Given the description of an element on the screen output the (x, y) to click on. 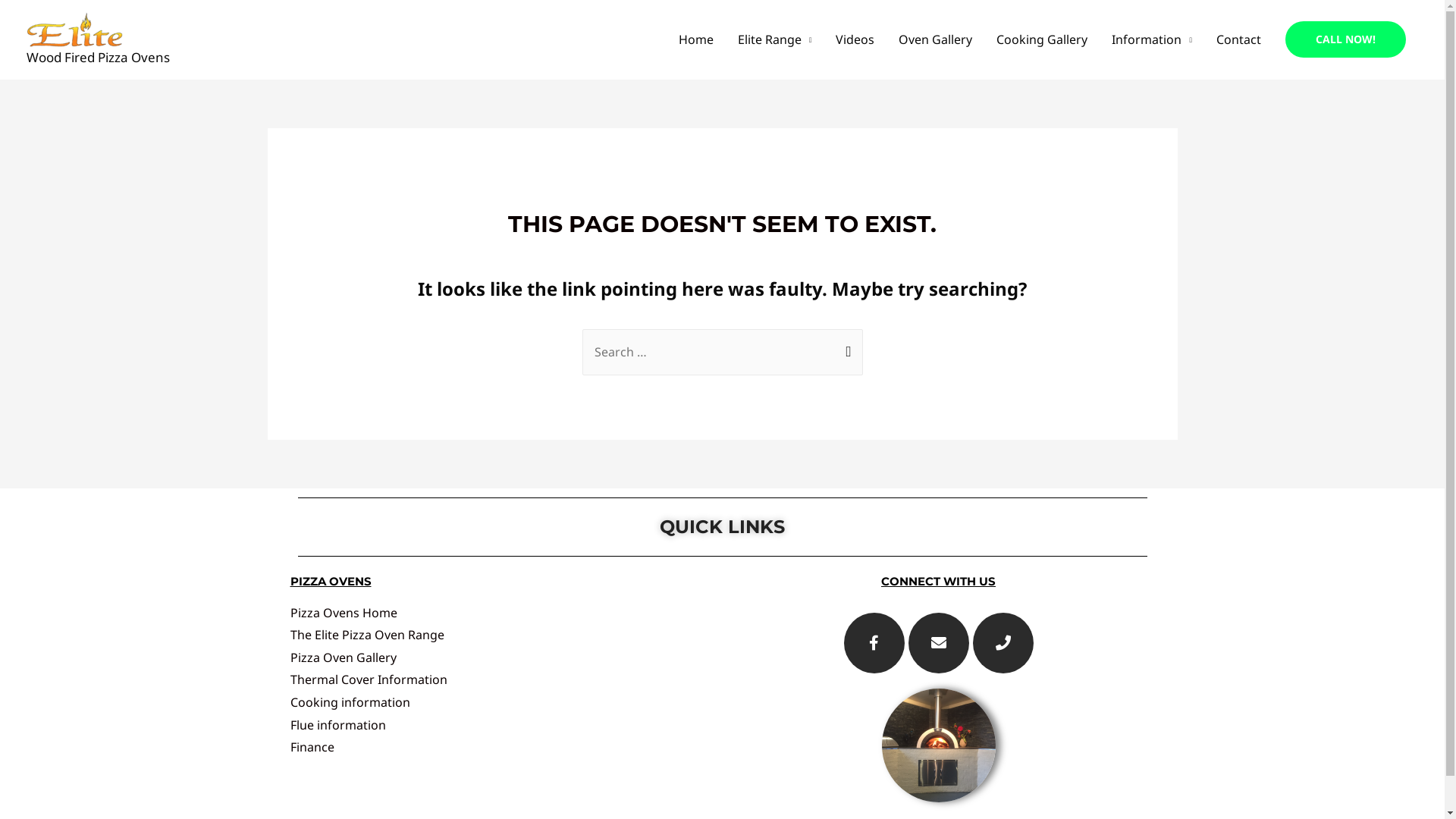
Contact Element type: text (1238, 39)
Pizza Oven Gallery Element type: text (342, 657)
Cooking information Element type: text (349, 701)
Cooking Gallery Element type: text (1041, 39)
Finance Element type: text (311, 746)
Information Element type: text (1151, 39)
Oven Gallery Element type: text (935, 39)
Videos Element type: text (854, 39)
Elite Range Element type: text (774, 39)
CALL NOW! Element type: text (1345, 39)
Flue information Element type: text (337, 724)
The Elite Pizza Oven Range Element type: text (366, 634)
Pizza Ovens Home Element type: text (342, 612)
Search Element type: text (845, 344)
Home Element type: text (695, 39)
Thermal Cover Information Element type: text (367, 679)
EP850TC Element type: hover (937, 745)
